Given the description of an element on the screen output the (x, y) to click on. 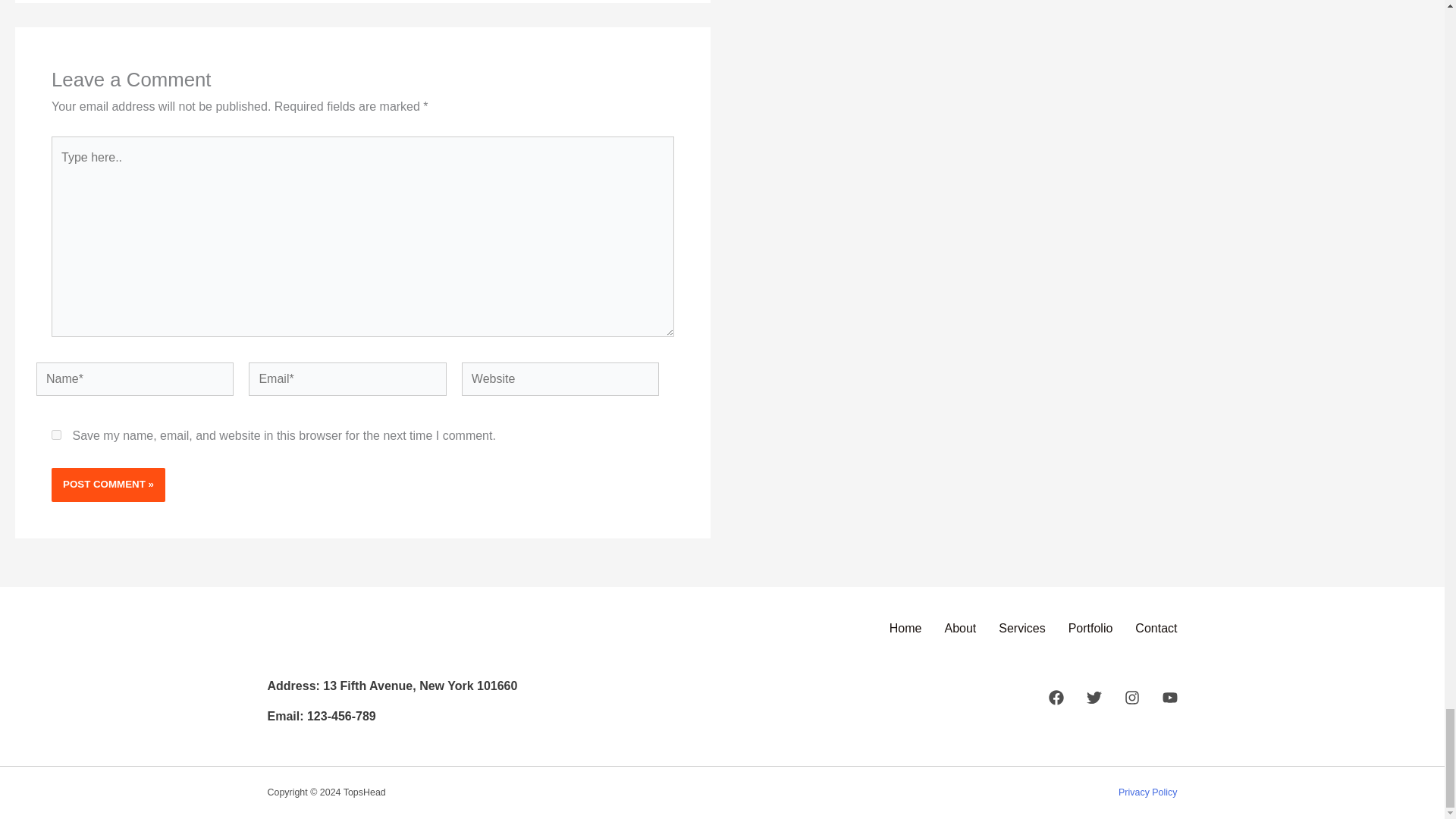
yes (55, 434)
